Given the description of an element on the screen output the (x, y) to click on. 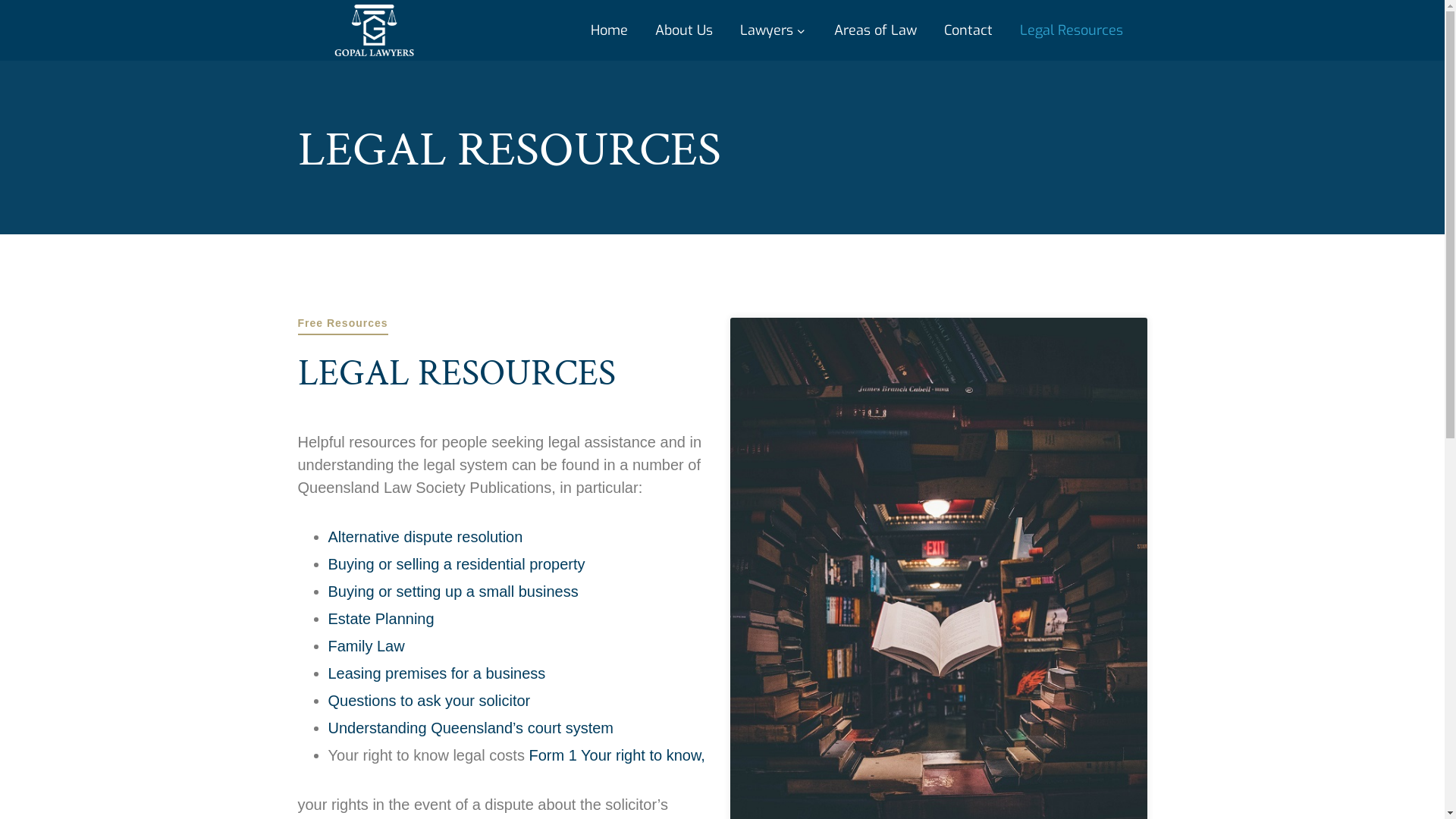
Buying or setting up a small business Element type: text (452, 591)
Estate Planning Element type: text (380, 618)
Lawyers Element type: text (773, 29)
About Us Element type: text (683, 29)
Contact Element type: text (967, 29)
Areas of Law Element type: text (875, 29)
Questions to ask your solicitor Element type: text (428, 700)
Legal Resources Element type: text (1070, 29)
Alternative dispute resolution Element type: text (424, 536)
Home Element type: text (608, 29)
Buying or selling a residential property Element type: text (455, 563)
Family Law Element type: text (365, 645)
Form 1 Your right to know, Element type: text (616, 754)
Leasing premises for a business Element type: text (436, 673)
